Given the description of an element on the screen output the (x, y) to click on. 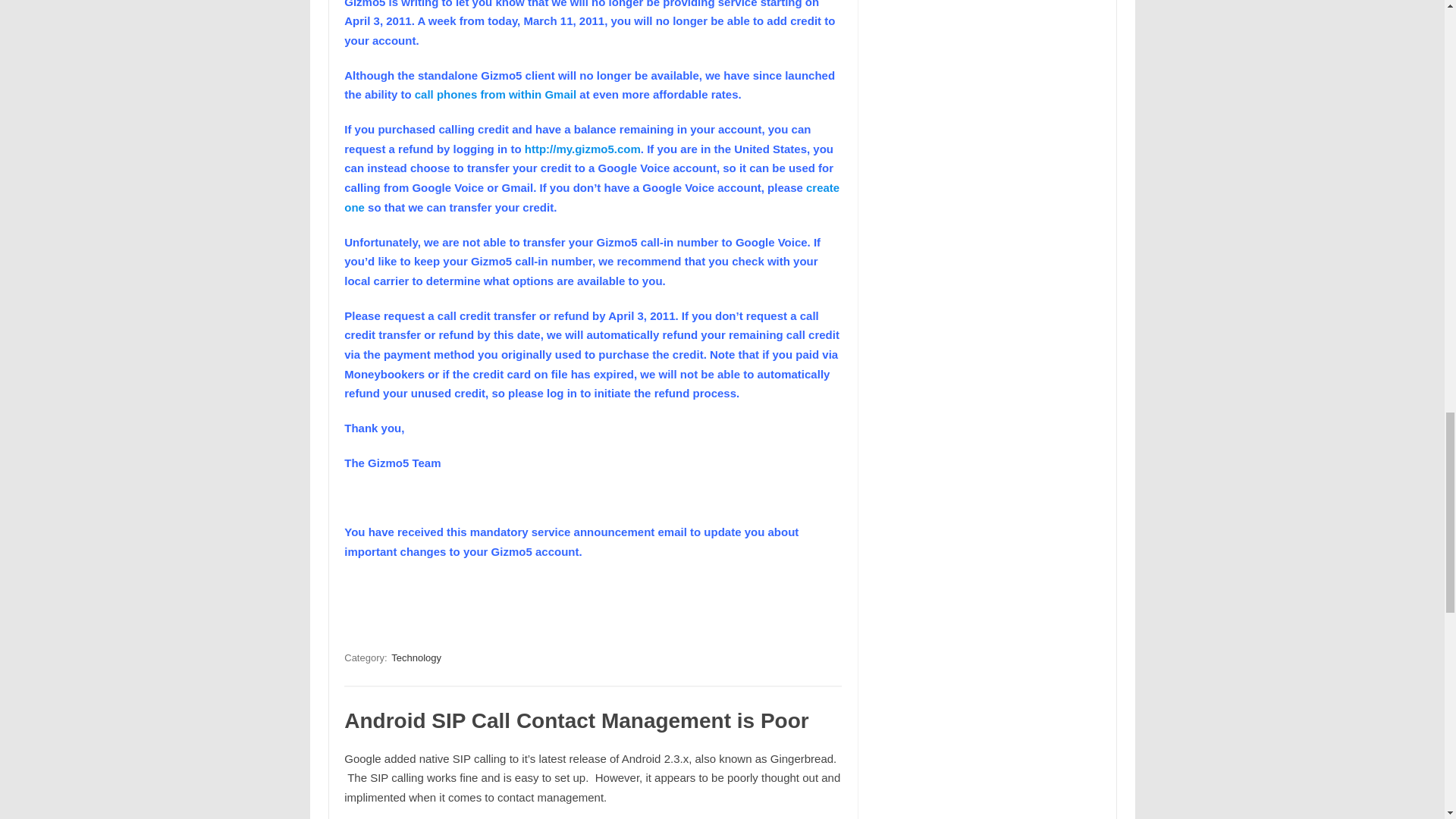
call phones from within Gmail (495, 93)
Technology (416, 657)
create one (591, 196)
Permalink to Android SIP Call Contact Management is Poor (575, 720)
Android SIP Call Contact Management is Poor (575, 720)
